Given the description of an element on the screen output the (x, y) to click on. 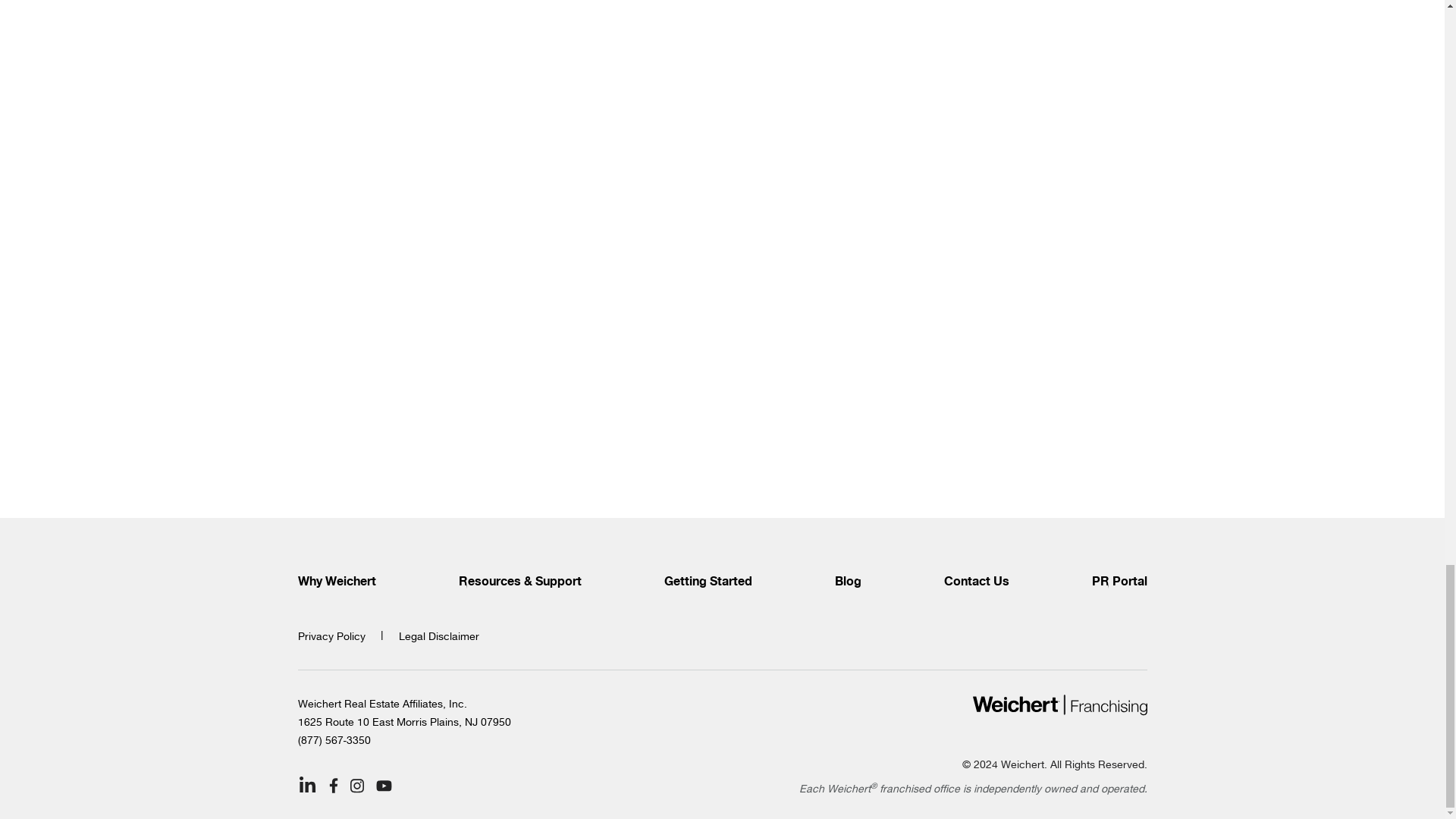
Contact Us (976, 581)
Legal Disclaimer (438, 635)
PR Portal (1119, 581)
Blog (847, 581)
Why Weichert (336, 581)
Privacy Policy (331, 635)
Getting Started (707, 581)
